Given the description of an element on the screen output the (x, y) to click on. 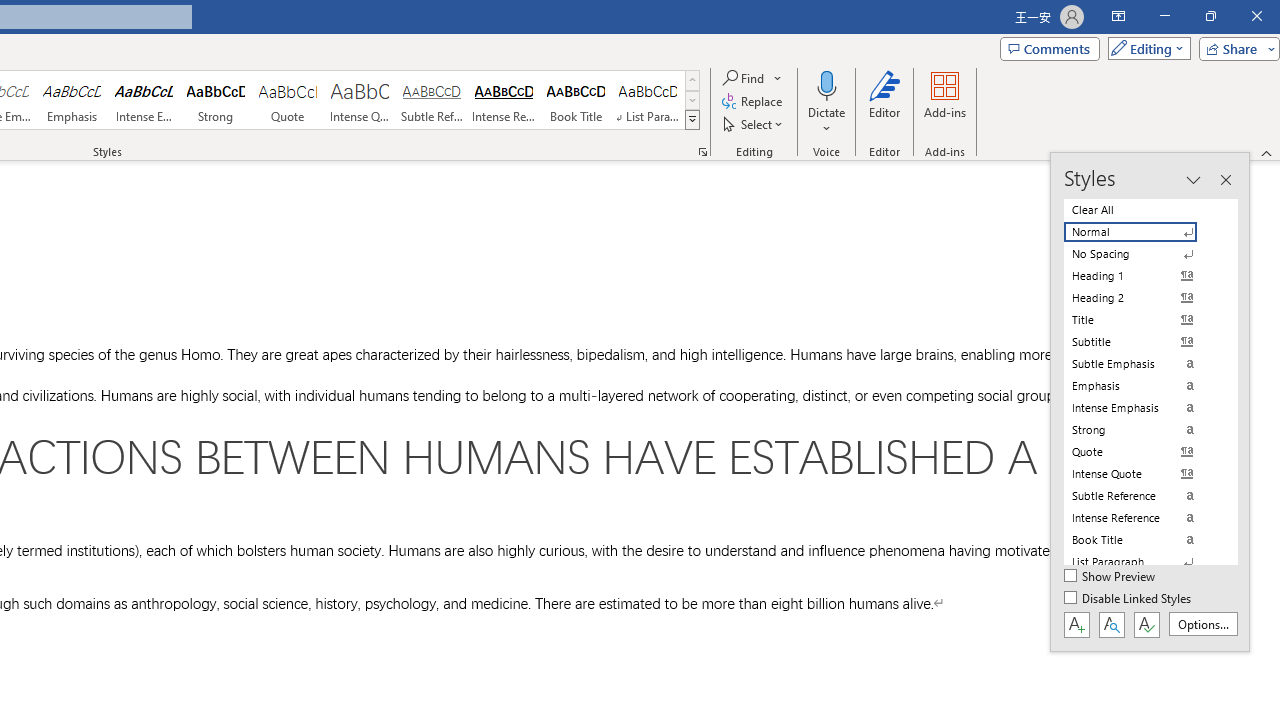
Class: MsoCommandBar (1149, 401)
Options... (1202, 623)
Row Down (692, 100)
Normal (1142, 232)
Subtle Emphasis (1142, 363)
Replace... (753, 101)
List Paragraph (1142, 561)
Clear All (1142, 209)
Styles... (702, 151)
Show Preview (1110, 577)
